Given the description of an element on the screen output the (x, y) to click on. 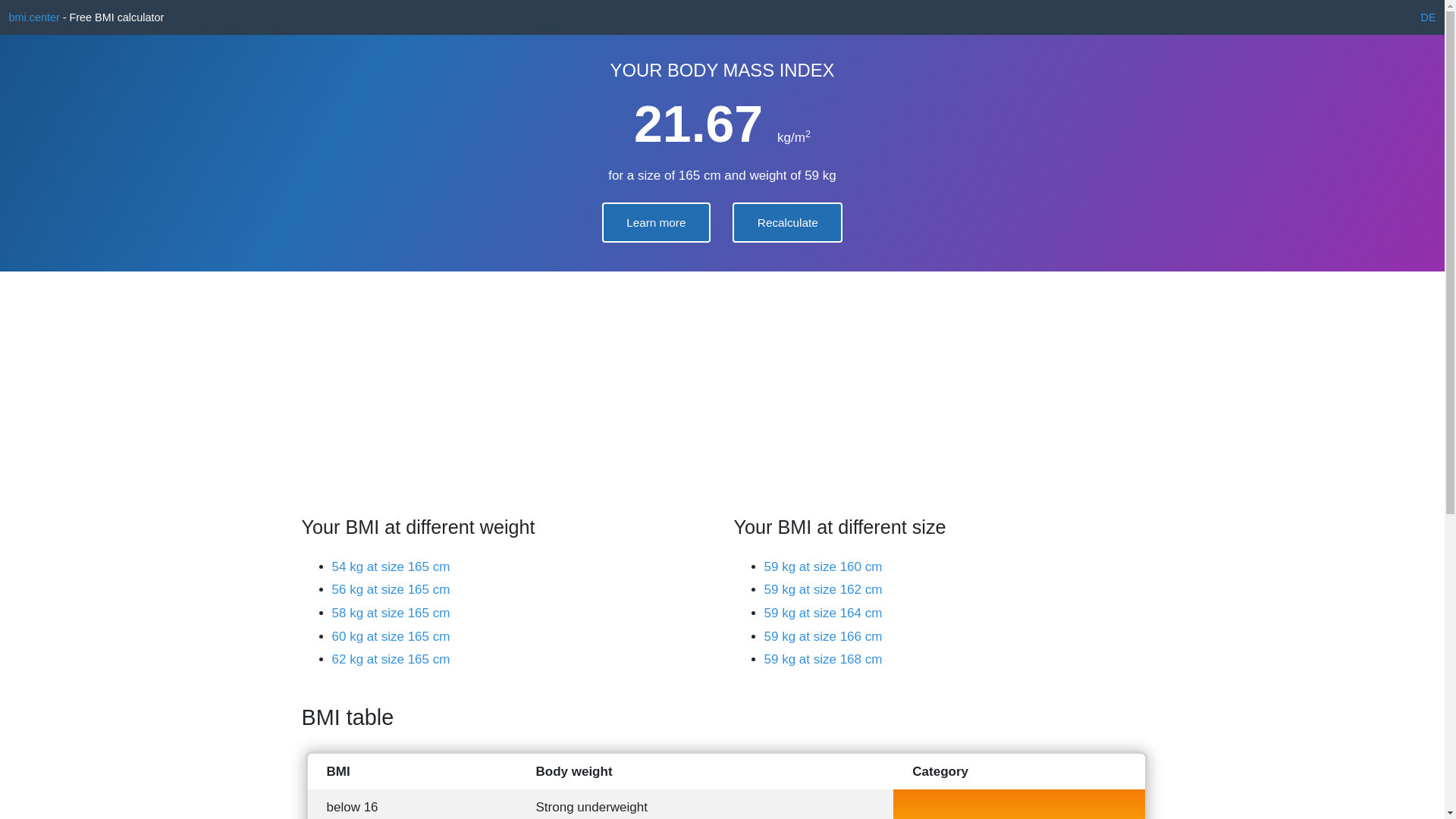
62 kg at size 165 cm Element type: text (391, 659)
54 kg at size 165 cm Element type: text (391, 566)
Learn more Element type: text (656, 222)
DE Element type: text (1427, 17)
59 kg at size 162 cm Element type: text (823, 589)
58 kg at size 165 cm Element type: text (391, 612)
59 kg at size 164 cm Element type: text (823, 612)
59 kg at size 160 cm Element type: text (823, 566)
56 kg at size 165 cm Element type: text (391, 589)
60 kg at size 165 cm Element type: text (391, 636)
59 kg at size 166 cm Element type: text (823, 636)
Advertisement Element type: hover (938, 377)
bmi.center Element type: text (34, 17)
Advertisement Element type: hover (506, 377)
59 kg at size 168 cm Element type: text (823, 659)
Recalculate Element type: text (787, 222)
